Given the description of an element on the screen output the (x, y) to click on. 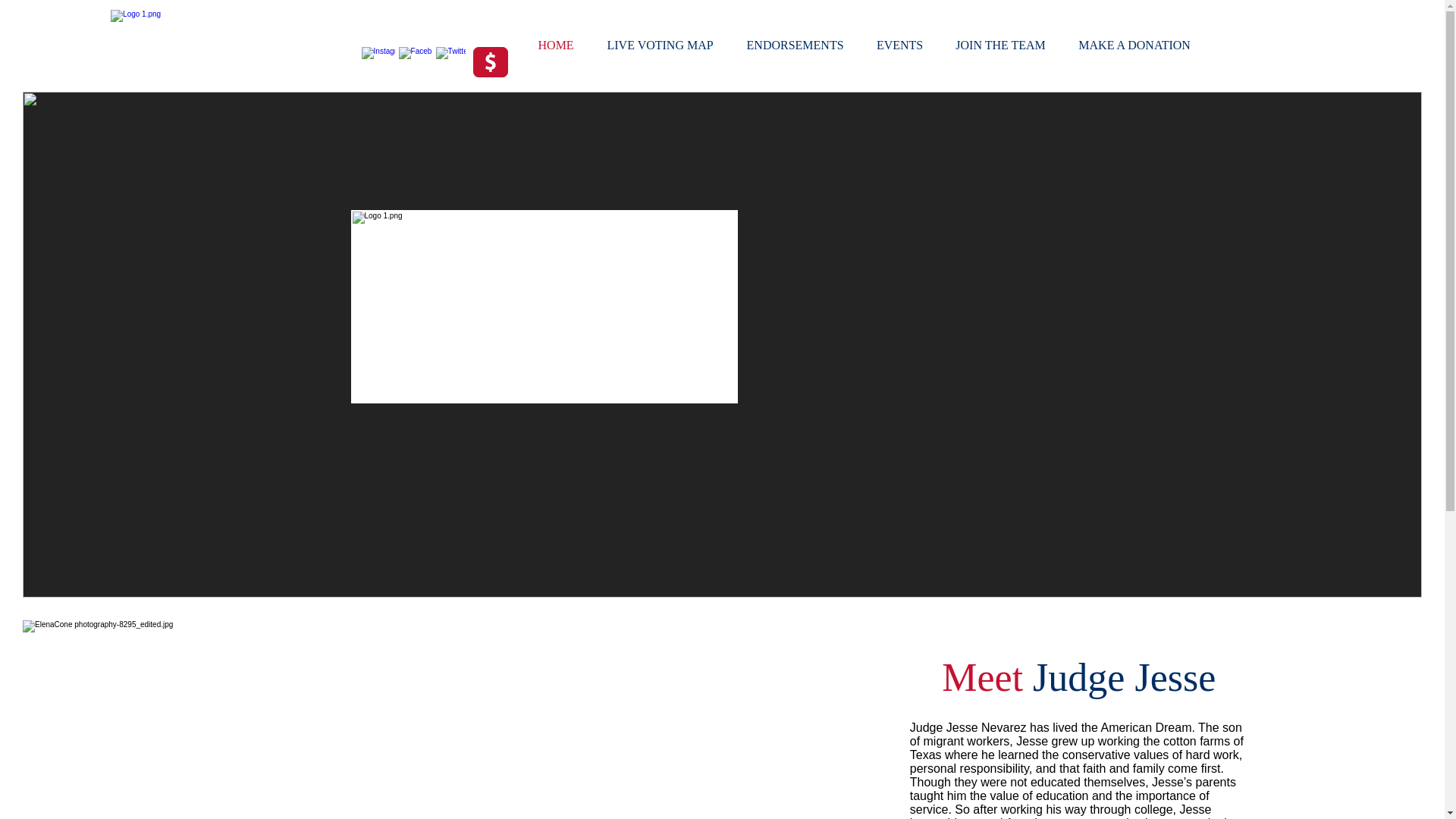
EVENTS (899, 45)
MAKE A DONATION (1134, 45)
LIVE VOTING MAP (660, 45)
ENDORSEMENTS (795, 45)
JOIN THE TEAM (1000, 45)
HOME (556, 45)
